Given the description of an element on the screen output the (x, y) to click on. 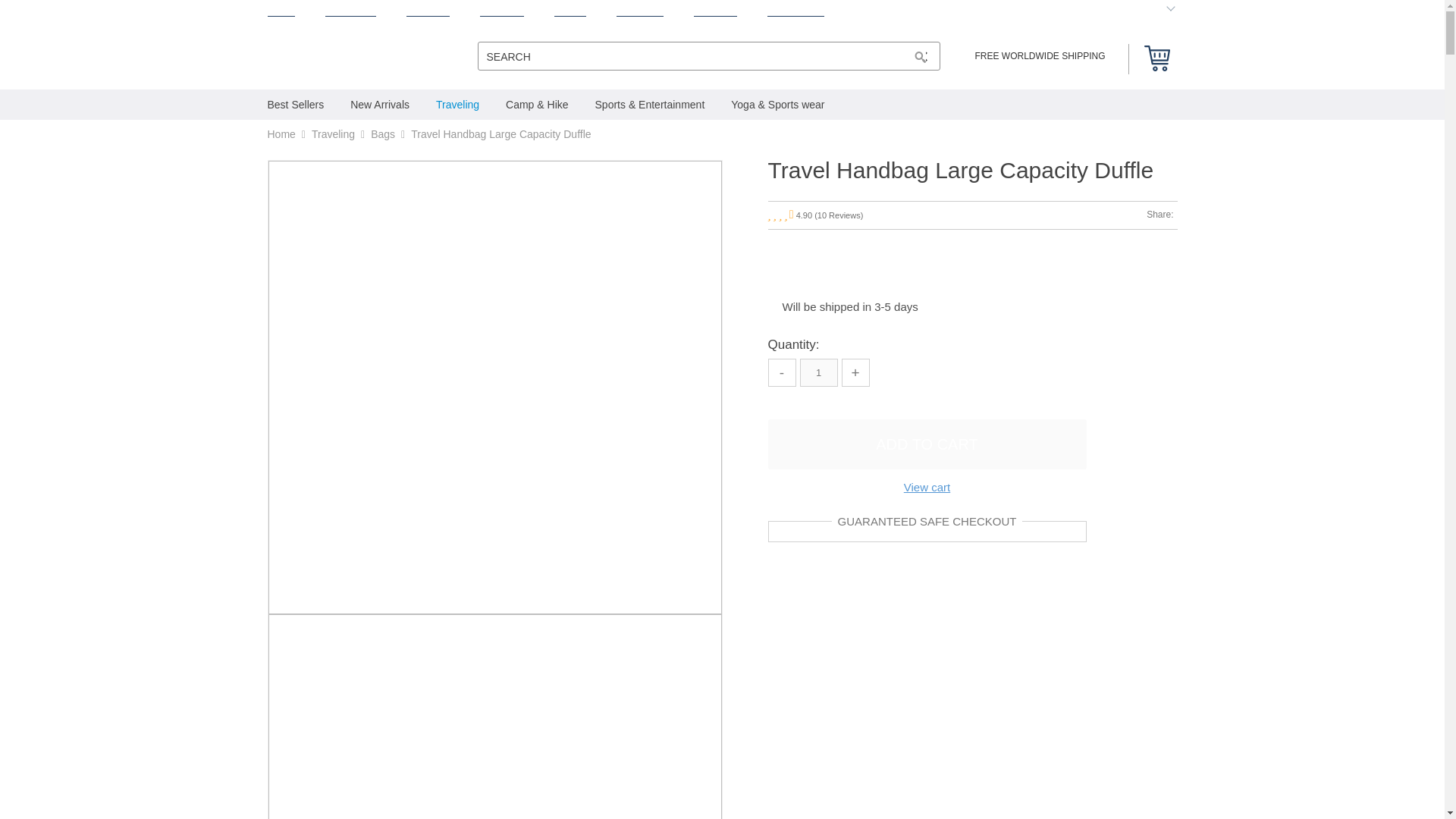
1 (818, 372)
